Given the description of an element on the screen output the (x, y) to click on. 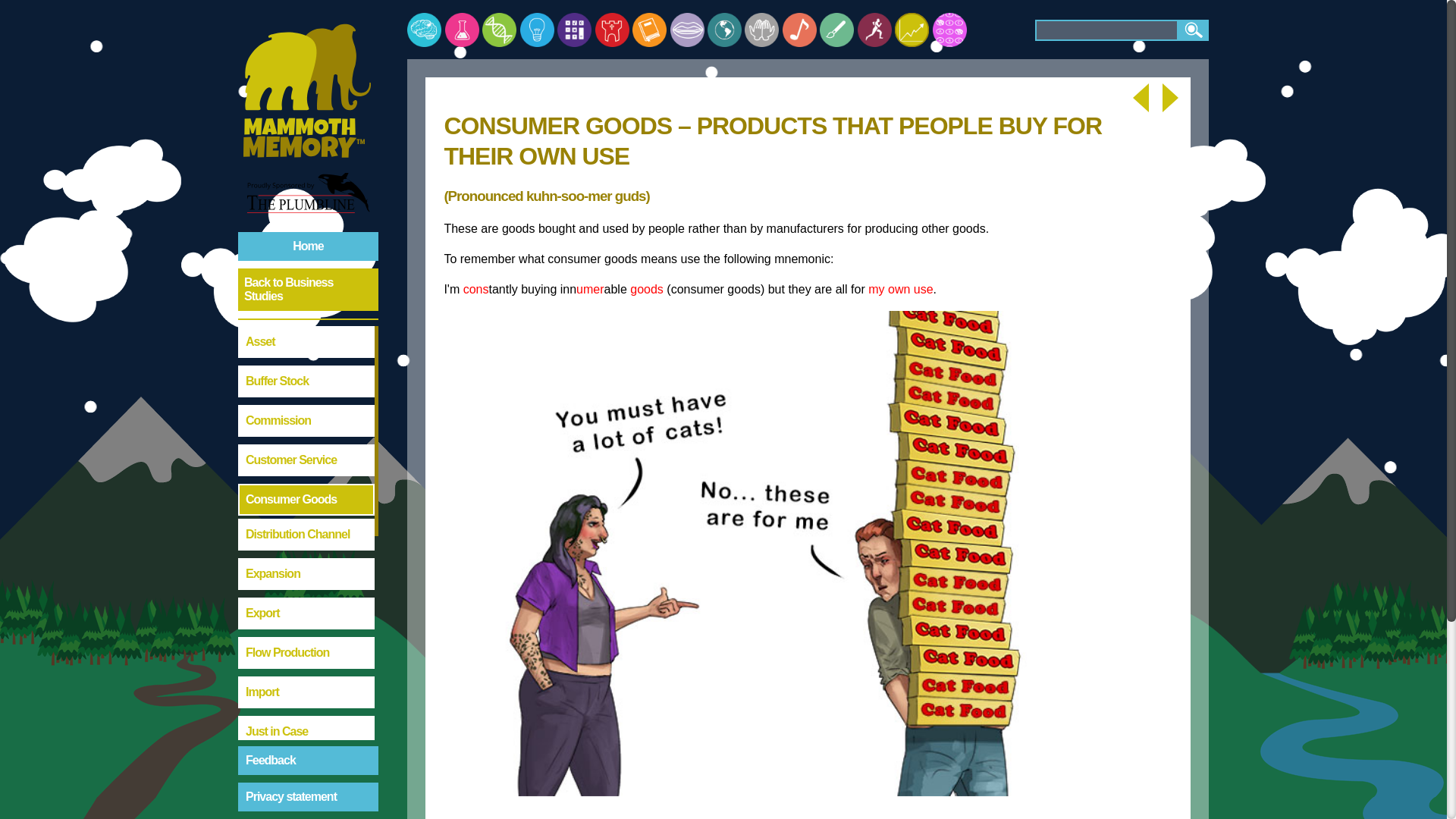
Geography (724, 29)
Export (306, 613)
Home (308, 246)
Just in Time (306, 771)
English (648, 29)
Art (836, 29)
Asset (306, 341)
Consumer Goods (306, 499)
Religion (761, 29)
Sports Science (874, 29)
